Given the description of an element on the screen output the (x, y) to click on. 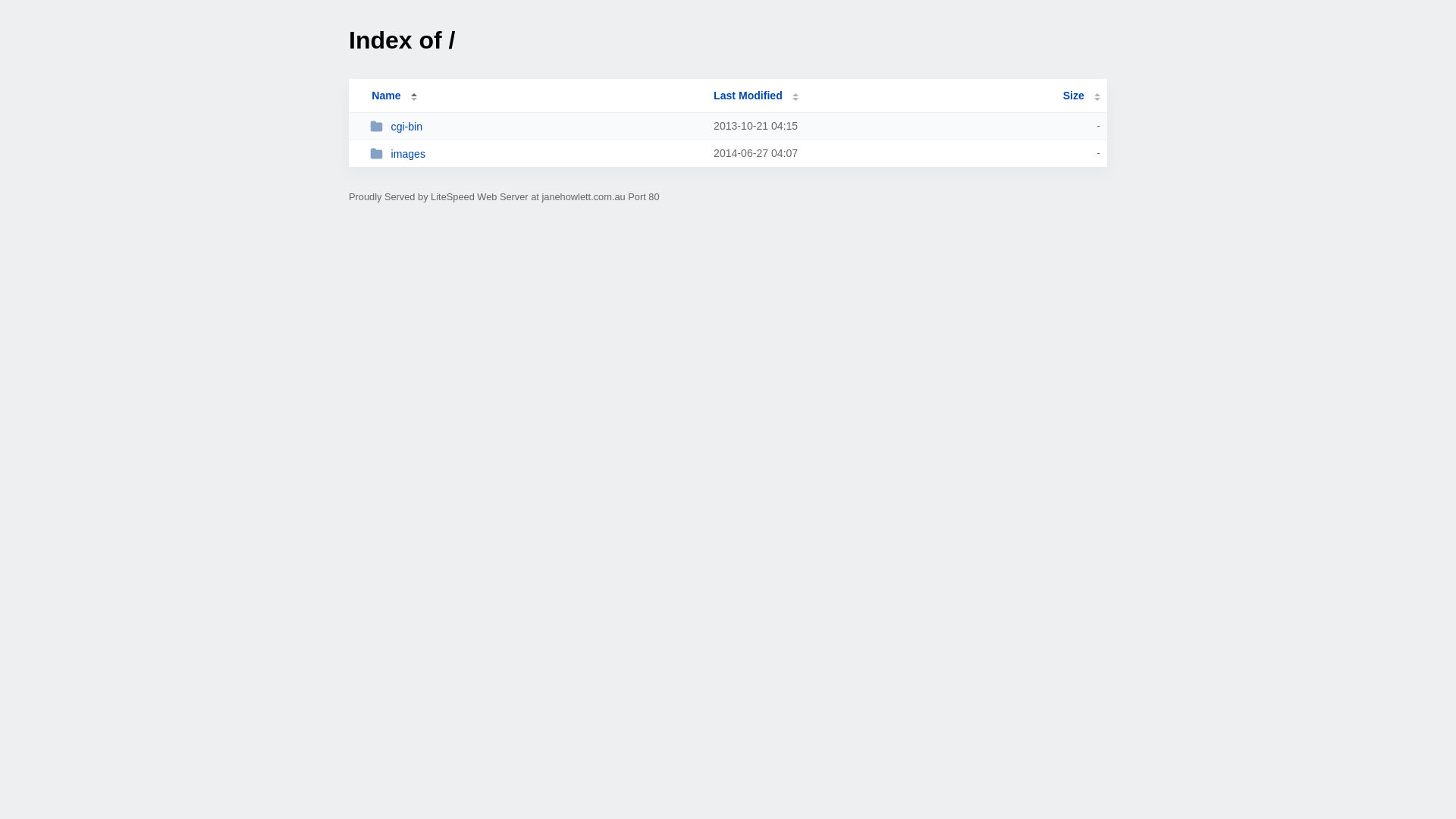
images Element type: text (534, 153)
Size Element type: text (1081, 95)
Last Modified Element type: text (755, 95)
cgi-bin Element type: text (534, 125)
Name Element type: text (385, 95)
